Given the description of an element on the screen output the (x, y) to click on. 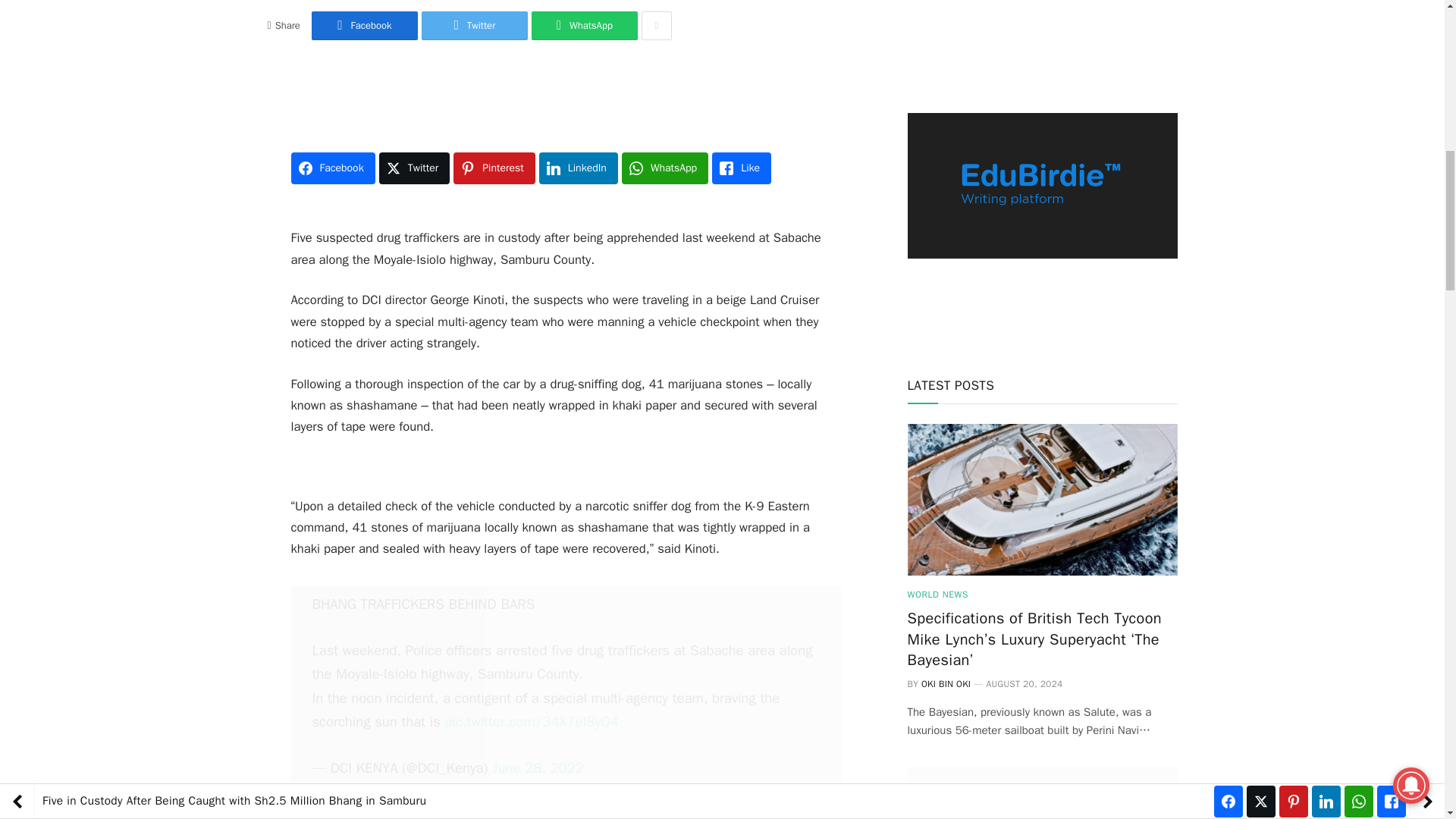
WhatsApp (584, 25)
Share on WhatsApp (584, 25)
Facebook (364, 25)
Twitter (474, 25)
Show More Social Sharing (656, 25)
Share on Facebook (364, 25)
